Given the description of an element on the screen output the (x, y) to click on. 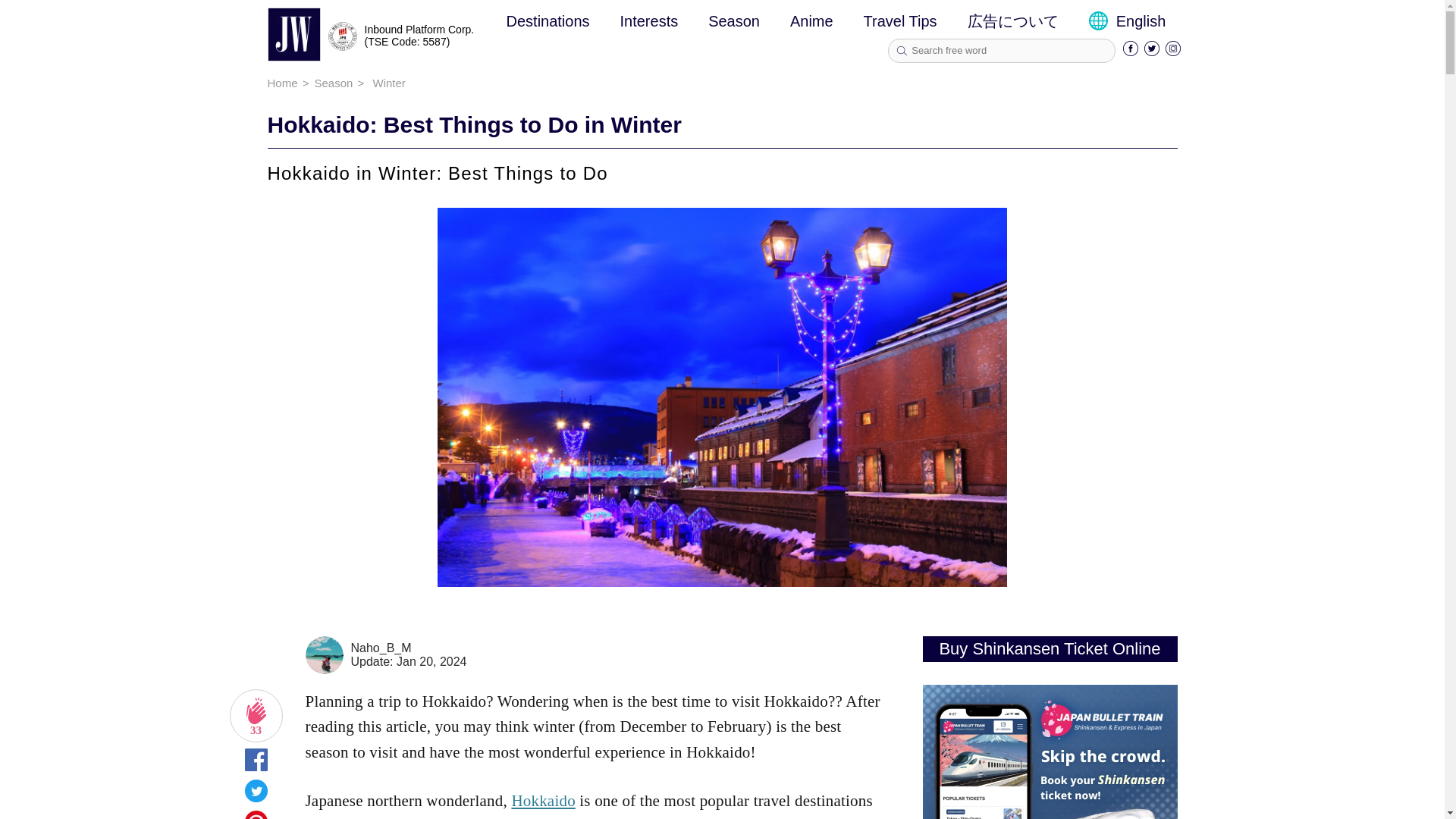
Travel Tips (900, 20)
Submit (901, 50)
Share to Facebook (255, 765)
Destinations (547, 20)
Like this post (255, 715)
Season (733, 20)
Interests (649, 20)
Share to Twitter (255, 796)
Home (281, 82)
Twitter (1151, 51)
  English (1127, 20)
Instagram (1173, 51)
Facebook (1130, 51)
Anime (811, 20)
